Given the description of an element on the screen output the (x, y) to click on. 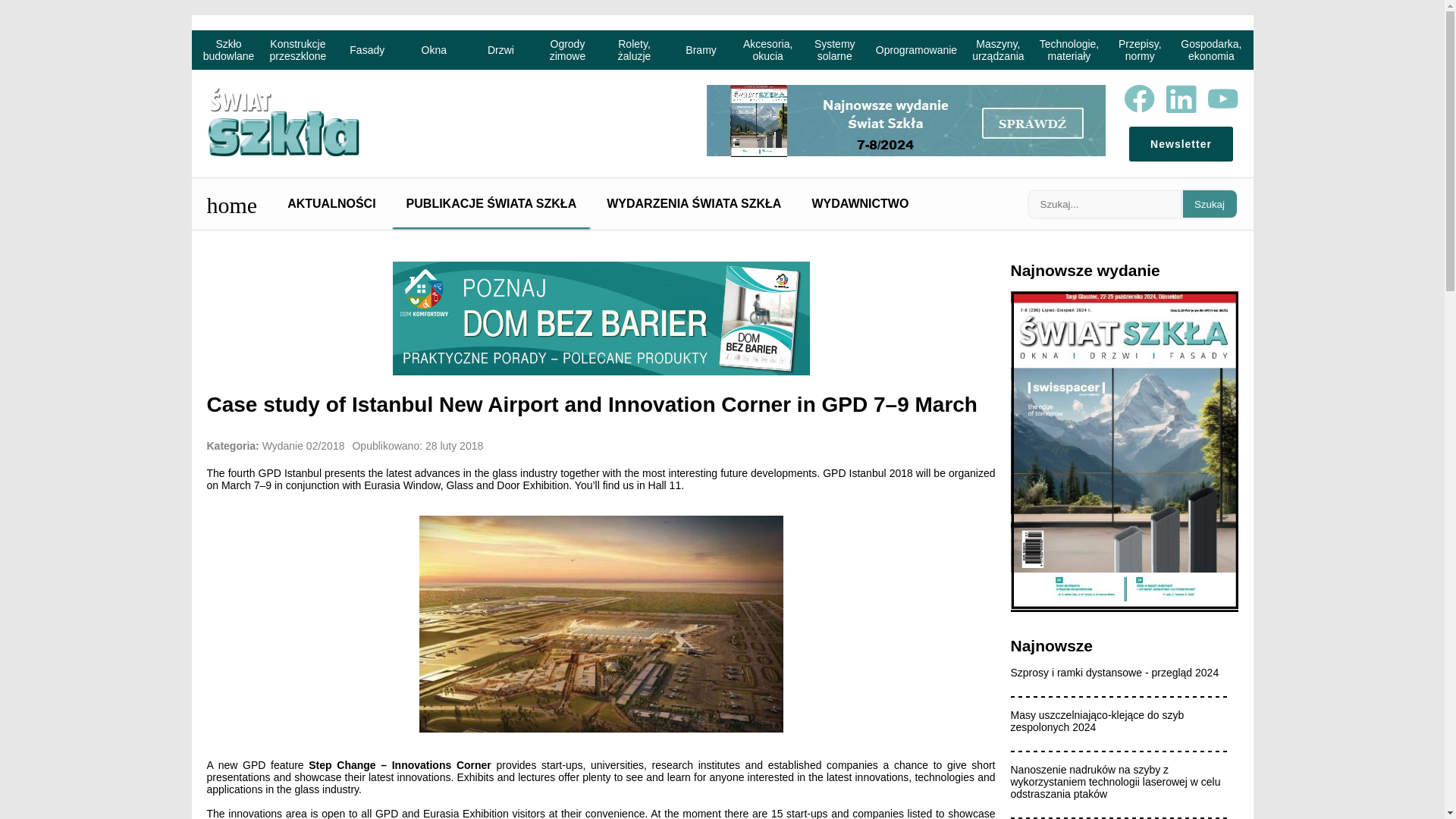
Systemy solarne (834, 49)
Szukaj (1209, 204)
Najnowsze wydanie - okladka (1123, 607)
home (231, 203)
Ogrody zimowe (566, 49)
Gospodarka, ekonomia (1211, 49)
Newsletter (1180, 143)
Fasady (366, 49)
Konstrukcje przeszklone (298, 49)
Oprogramowanie (915, 49)
